Given the description of an element on the screen output the (x, y) to click on. 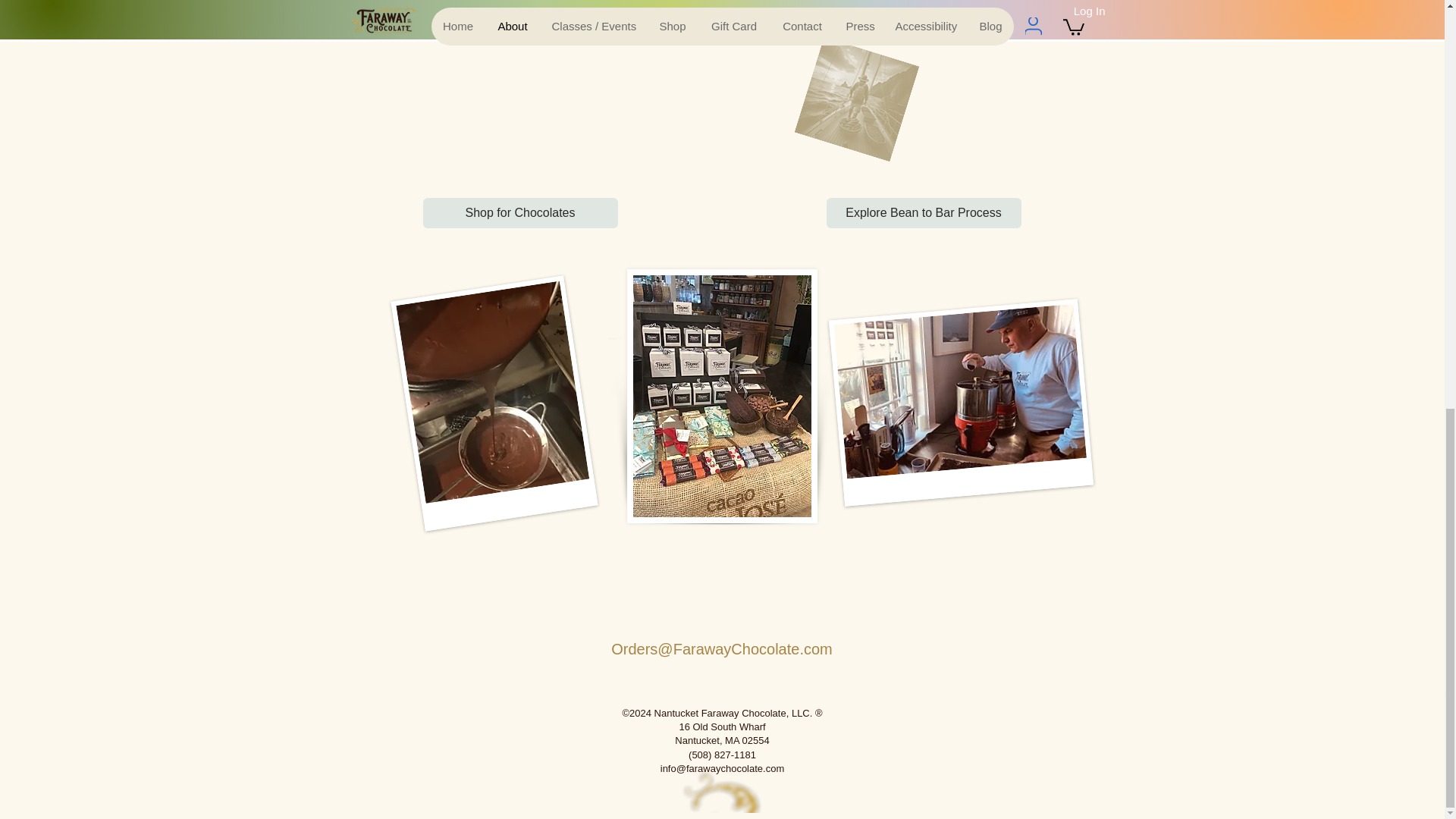
Chef Andre Marrero (952, 391)
Shop for Chocolates (520, 212)
Logo (723, 791)
Explore Bean to Bar Process (924, 212)
Searching for fine cacao (843, 86)
